Given the description of an element on the screen output the (x, y) to click on. 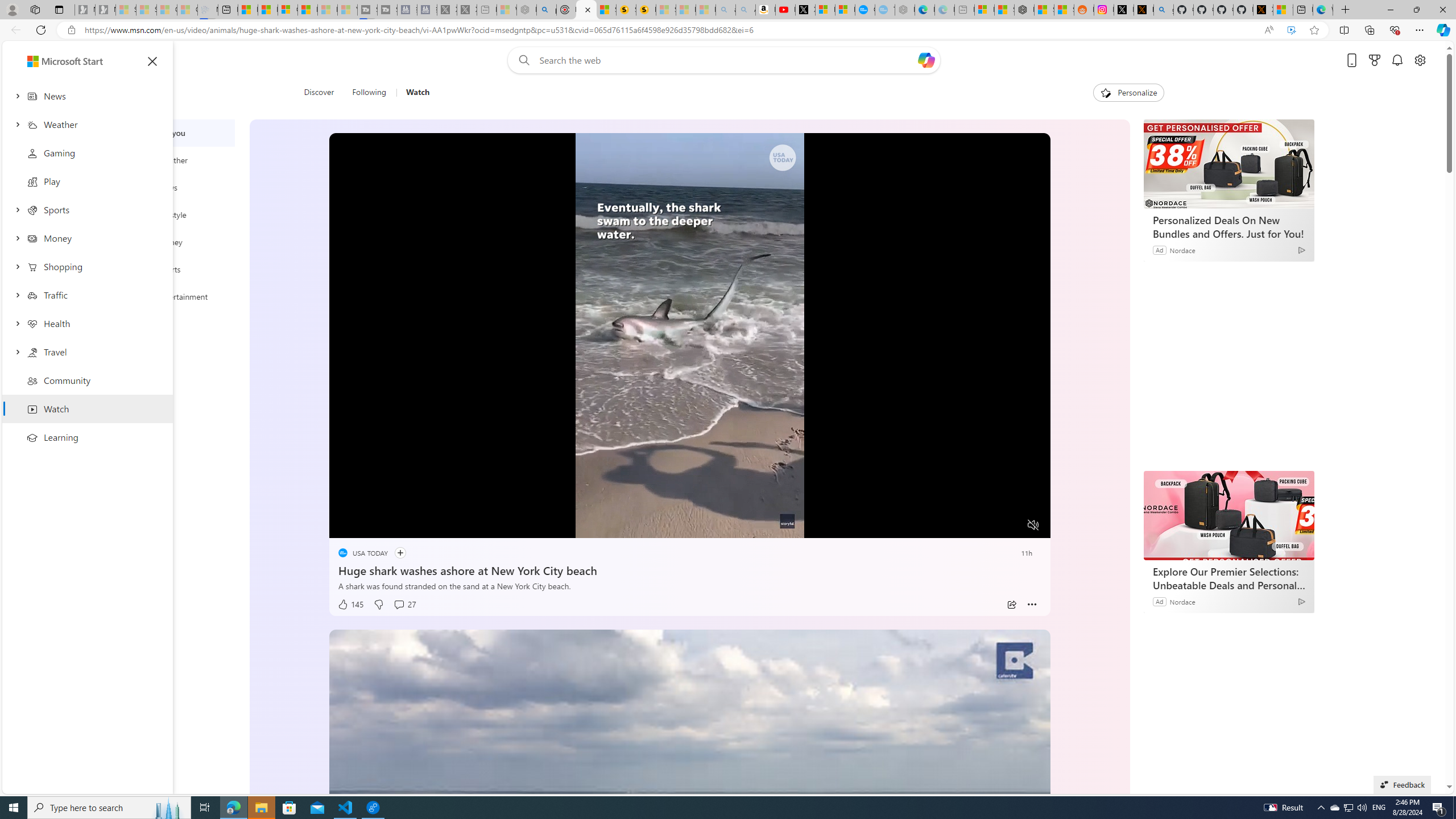
Microsoft rewards (1374, 60)
Quality Settings (964, 525)
help.x.com | 524: A timeout occurred (1143, 9)
Nordace - Nordace has arrived Hong Kong - Sleeping (904, 9)
Skip to content (49, 59)
X - Sleeping (466, 9)
View comments 27 Comment (404, 604)
Enhance video (1291, 29)
github - Search (1162, 9)
Following (370, 92)
